Given the description of an element on the screen output the (x, y) to click on. 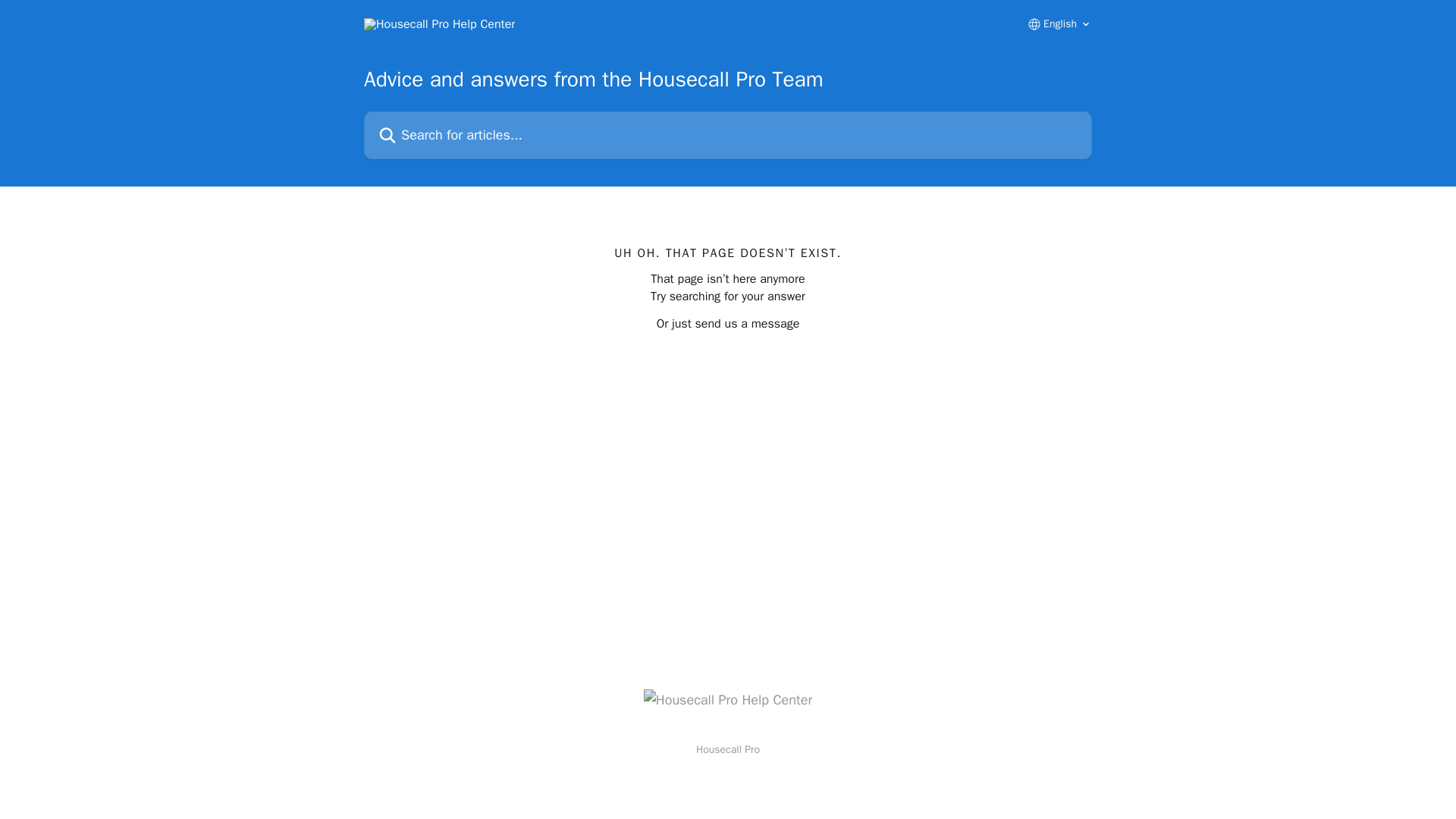
Housecall Pro (727, 748)
